Given the description of an element on the screen output the (x, y) to click on. 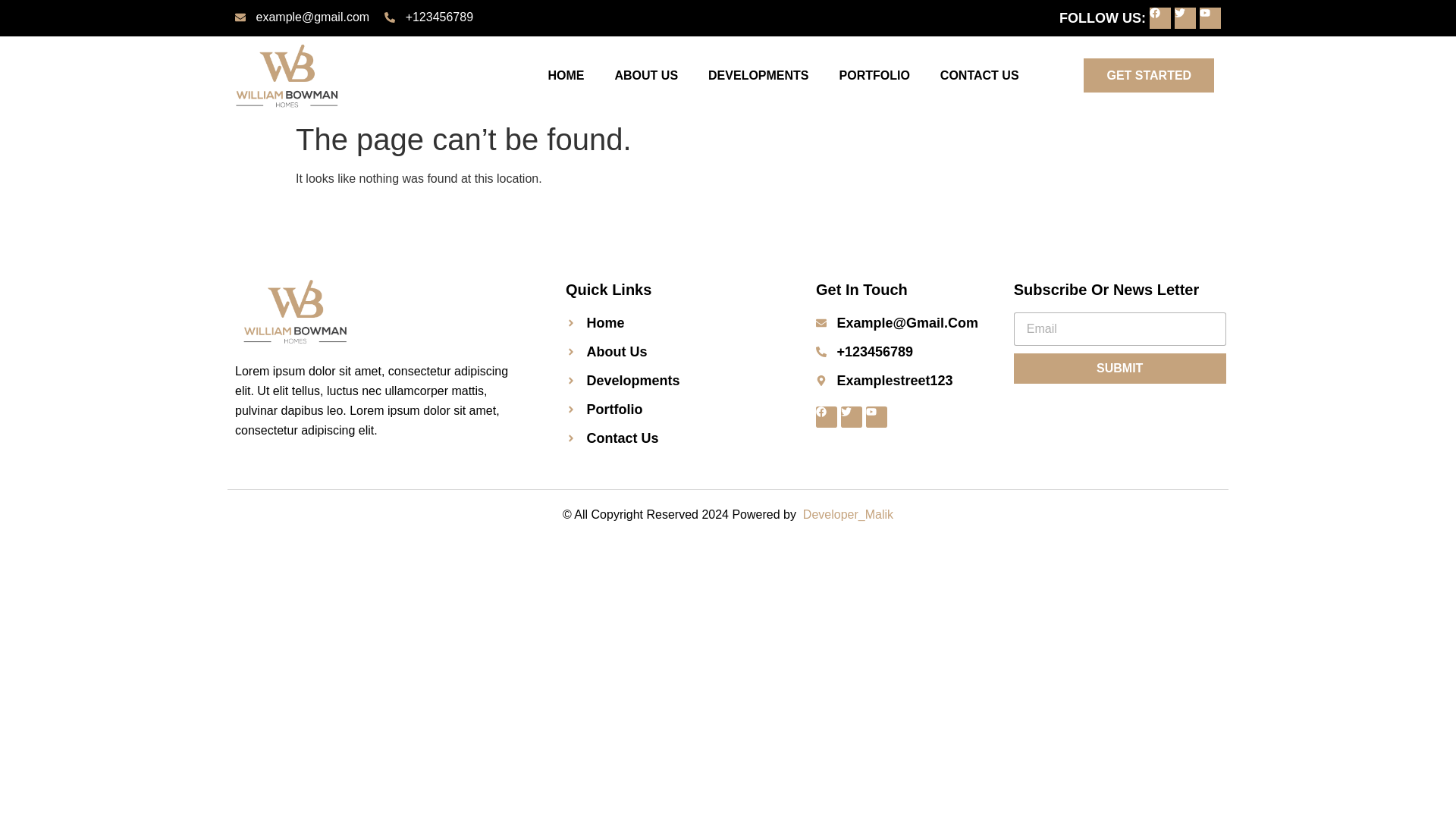
CONTACT US (978, 75)
Portfolio (671, 409)
Developments (671, 380)
HOME (565, 75)
GET STARTED (1148, 75)
ABOUT US (645, 75)
SUBMIT (1119, 368)
DEVELOPMENTS (758, 75)
PORTFOLIO (874, 75)
Home (671, 322)
About Us (671, 351)
Contact Us (671, 437)
